Given the description of an element on the screen output the (x, y) to click on. 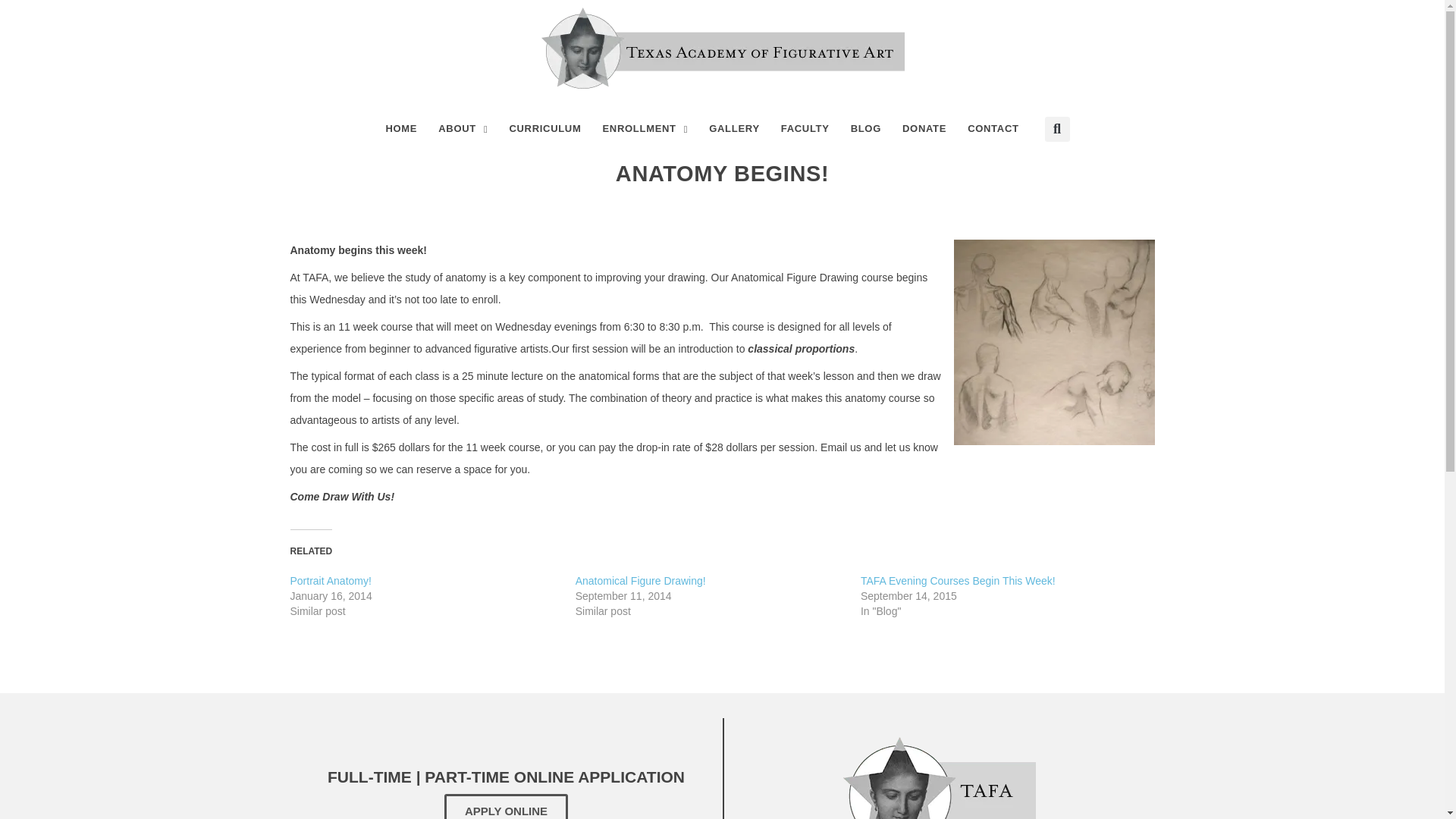
Anatomical Figure Drawing! (640, 580)
Anatomical Figure Drawing! (640, 580)
DONATE (923, 128)
CURRICULUM (544, 128)
HOME (401, 128)
TAFA Evening Courses Begin This Week! (957, 580)
APPLY ONLINE (505, 806)
Portrait Anatomy! (330, 580)
ABOUT (462, 128)
BLOG (865, 128)
